Given the description of an element on the screen output the (x, y) to click on. 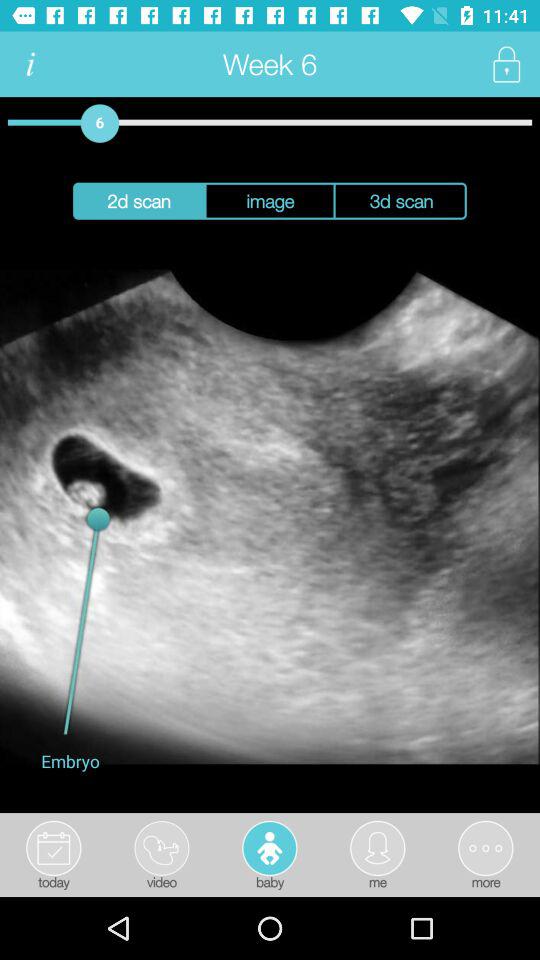
privacy setting (506, 63)
